Given the description of an element on the screen output the (x, y) to click on. 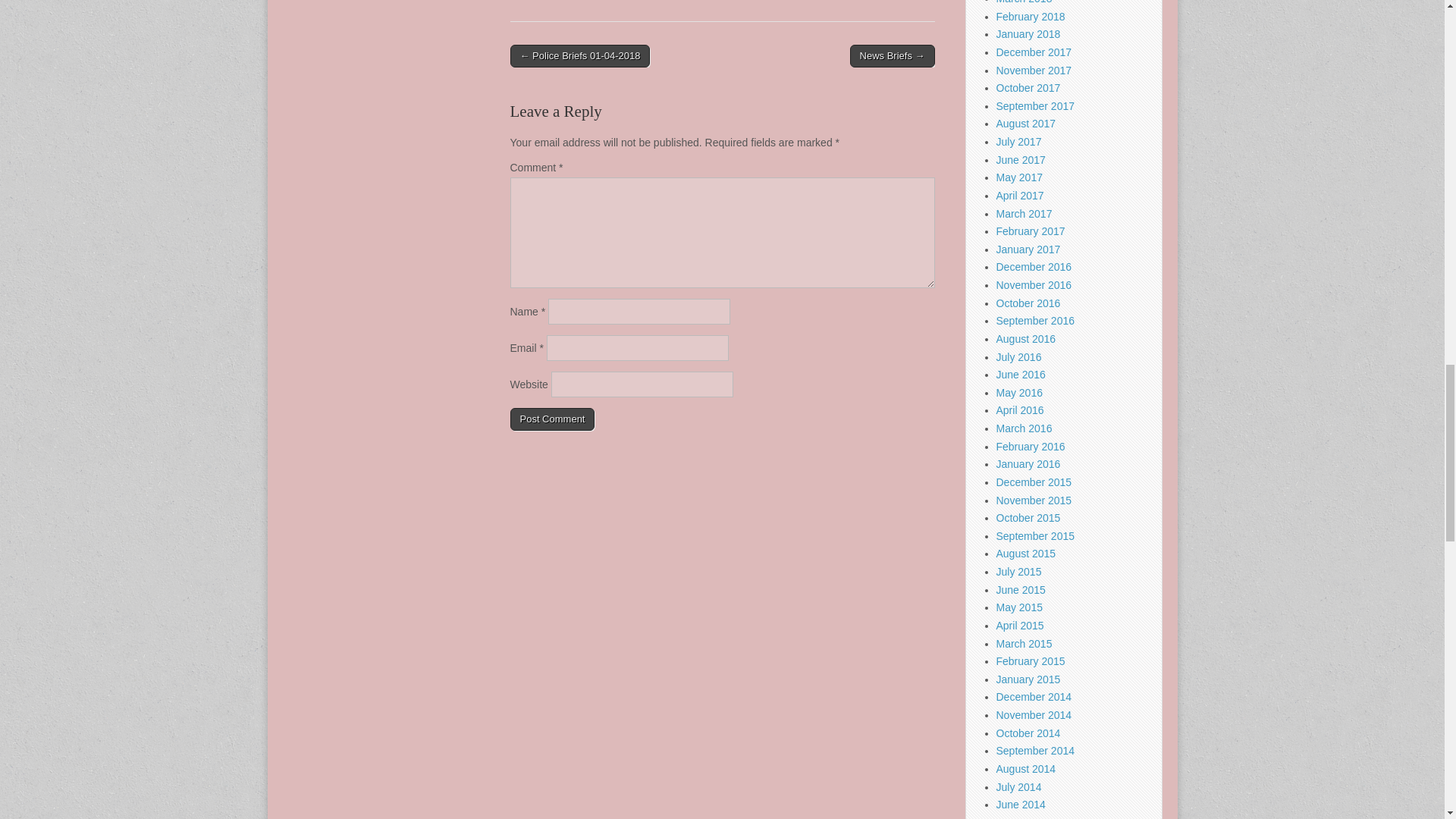
Post Comment (551, 418)
Post Comment (551, 418)
